Given the description of an element on the screen output the (x, y) to click on. 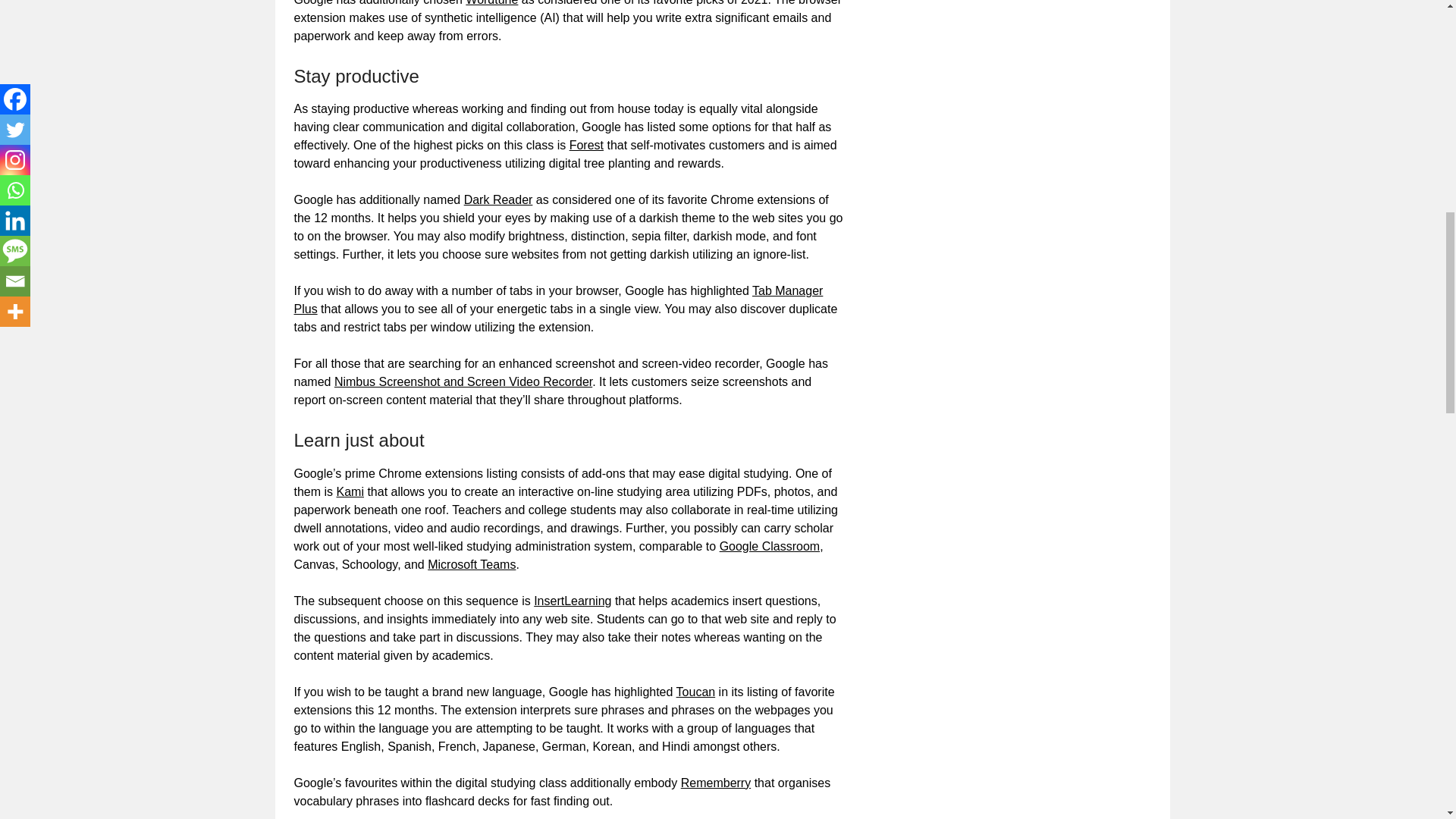
Dark Reader (498, 199)
Microsoft Teams (471, 563)
Google Classroom (770, 545)
Wordtune (491, 2)
Forest (586, 144)
Nimbus Screenshot and Screen Video Recorder (463, 381)
Tab Manager Plus (559, 299)
Kami (350, 491)
